Given the description of an element on the screen output the (x, y) to click on. 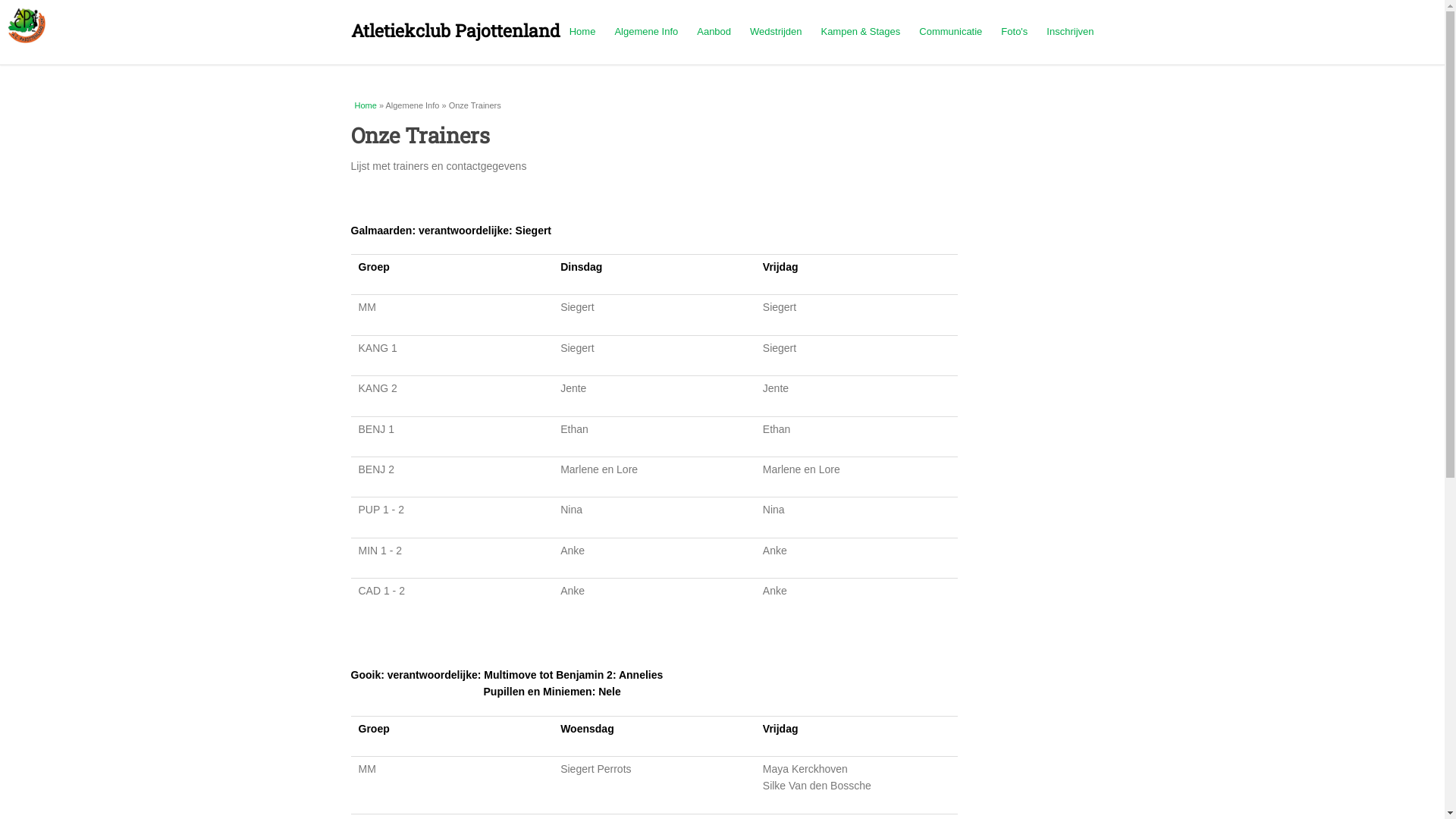
Atletiekclub Pajottenland Element type: text (454, 29)
Inschrijven Element type: text (1069, 31)
Home Element type: hover (26, 39)
Home Element type: text (365, 104)
Home Element type: text (582, 31)
Foto's Element type: text (1014, 31)
